Given the description of an element on the screen output the (x, y) to click on. 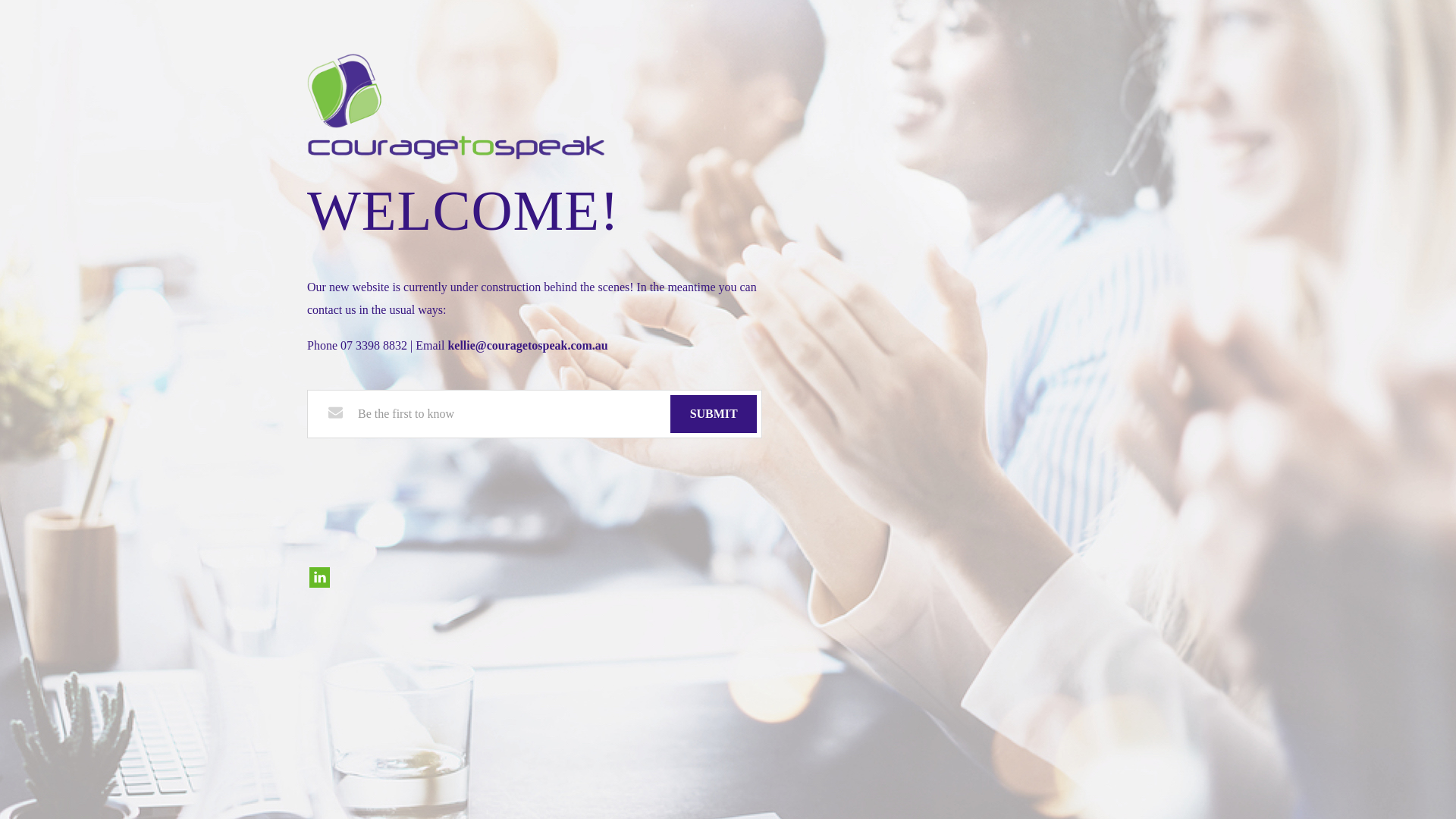
kellie@couragetospeak.com.au Element type: text (527, 344)
SUBMIT Element type: text (713, 414)
